Given the description of an element on the screen output the (x, y) to click on. 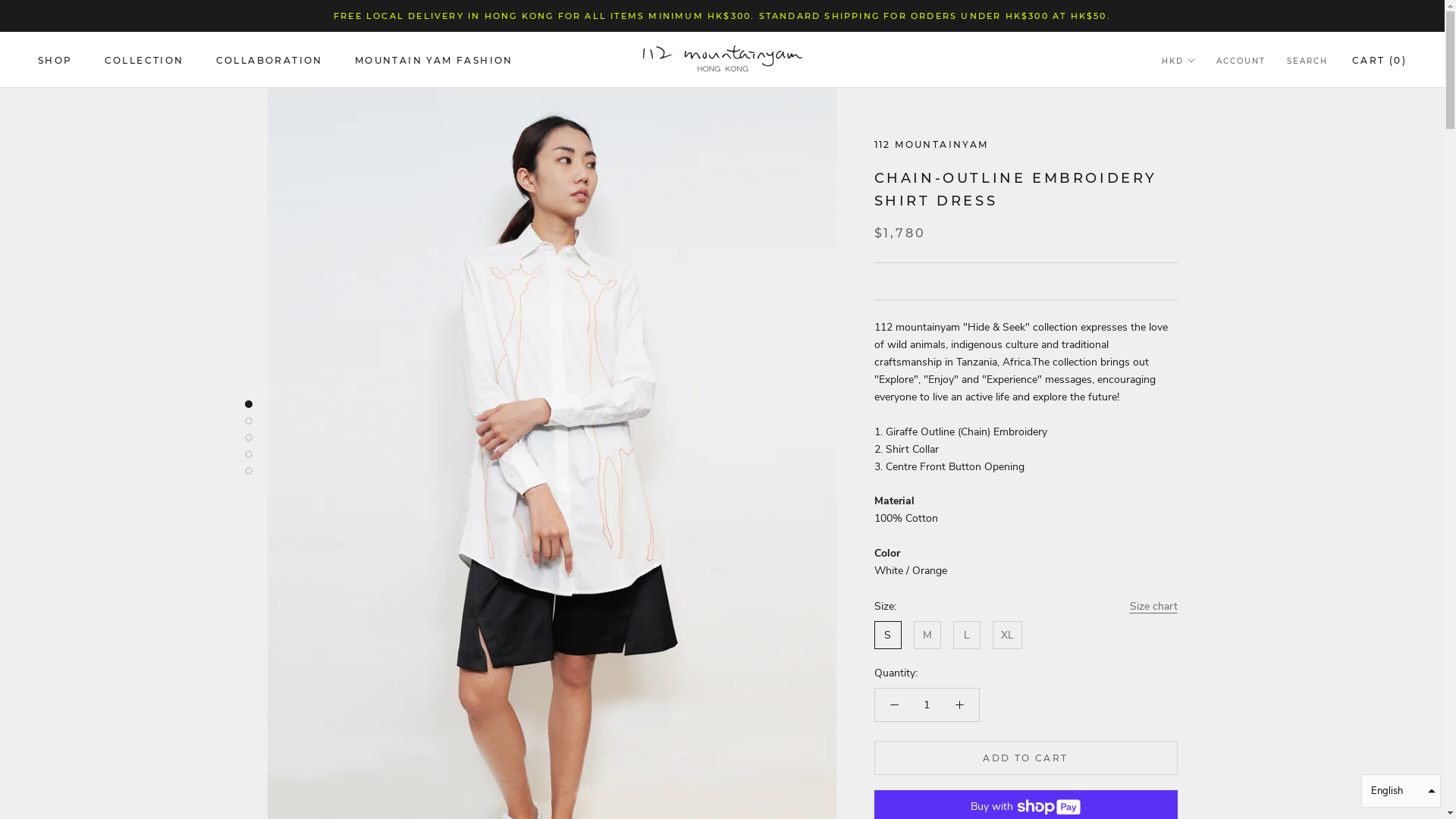
ADD TO CART Element type: text (1024, 757)
CART (0) Element type: text (1379, 59)
ACCOUNT Element type: text (1240, 61)
Size chart Element type: text (1153, 606)
MOUNTAIN YAM FASHION Element type: text (433, 59)
SHOP
SHOP Element type: text (54, 59)
COLLABORATION Element type: text (269, 59)
COLLECTION Element type: text (144, 59)
SEARCH Element type: text (1306, 61)
